Given the description of an element on the screen output the (x, y) to click on. 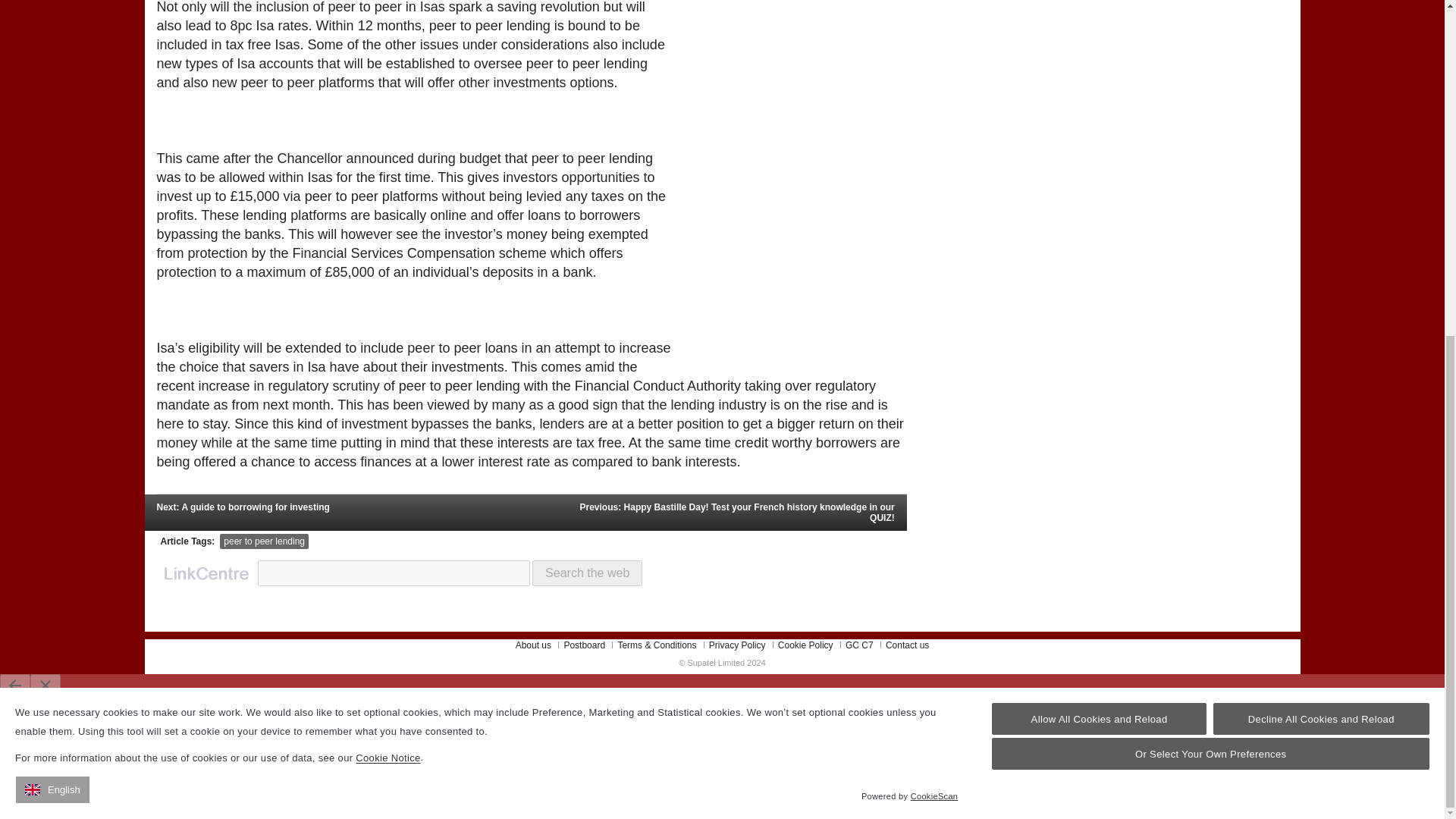
Search the web (587, 573)
Search the web (587, 573)
